Given the description of an element on the screen output the (x, y) to click on. 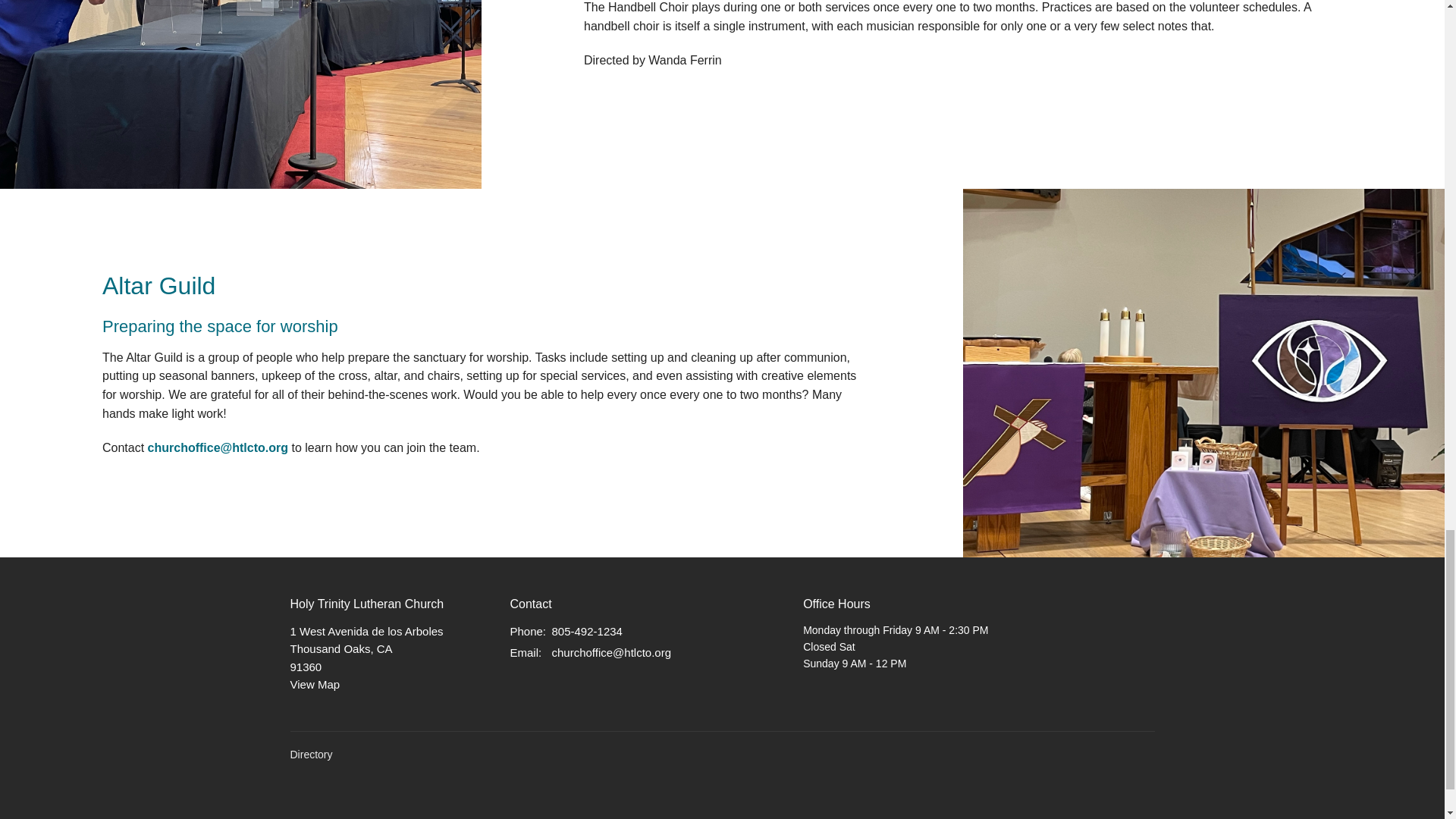
805-492-1234 (587, 630)
Directory (310, 754)
translation missing: en.ui.email (1102, 809)
View Map (523, 652)
